Given the description of an element on the screen output the (x, y) to click on. 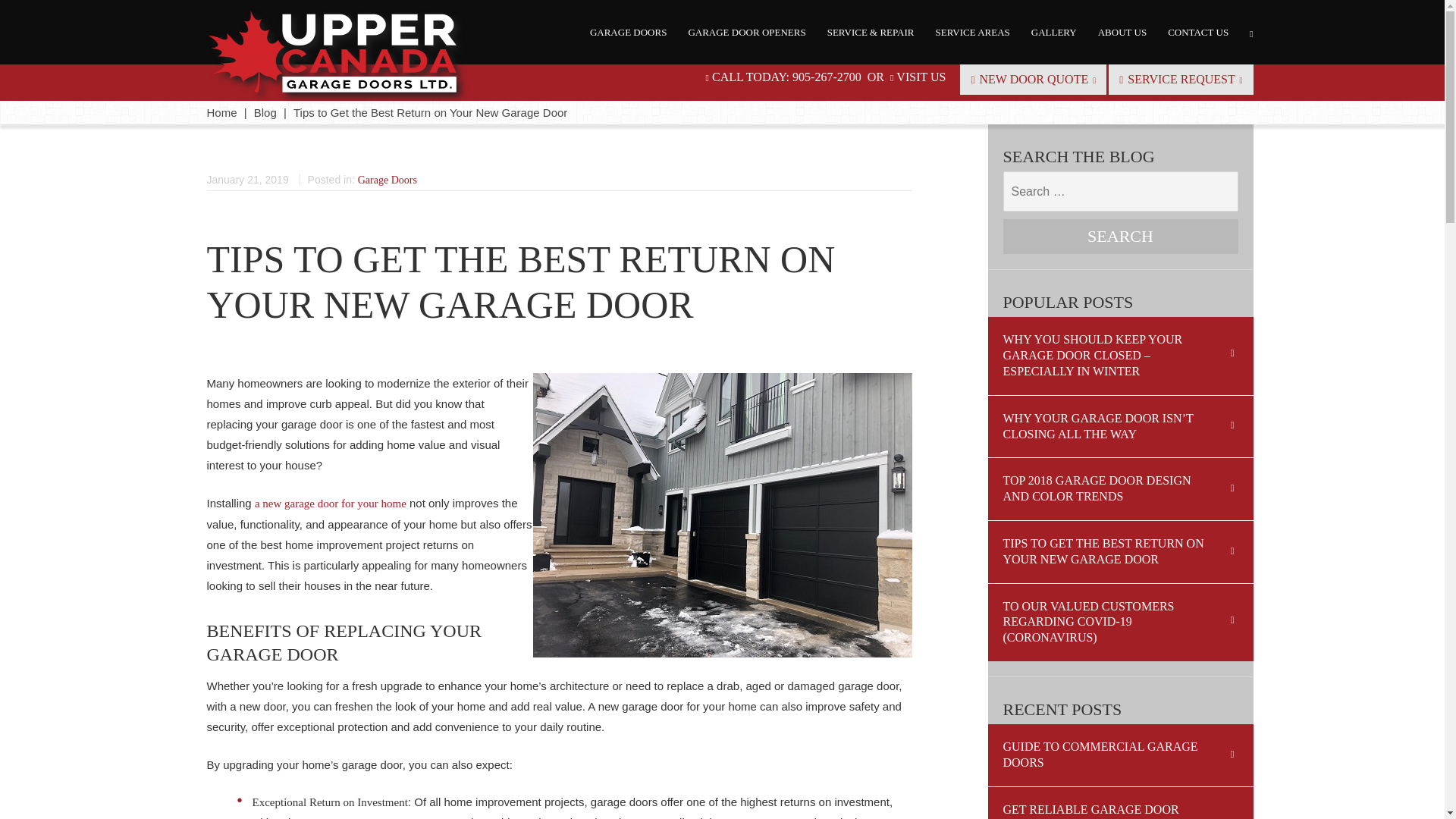
GARAGE DOORS (628, 32)
Top 2018 Garage Door Design and Color Trends (1119, 488)
GARAGE DOOR OPENERS (746, 32)
Search (1120, 236)
Search (1120, 236)
View all posts in Garage Doors (387, 179)
Tips to Get the Best Return on Your New Garage Door (1119, 551)
